Given the description of an element on the screen output the (x, y) to click on. 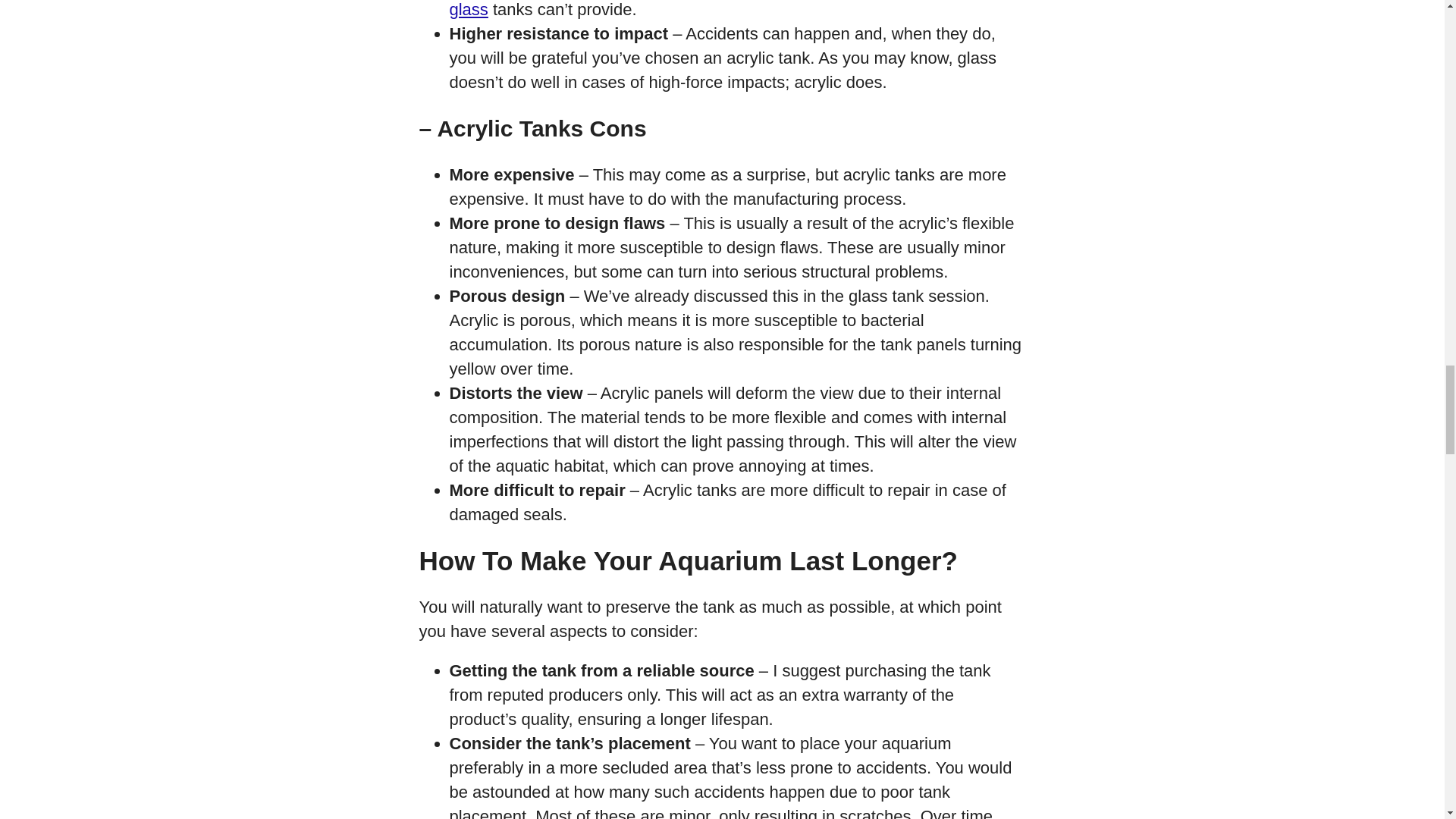
ideas for various shapes that glass (729, 9)
